Given the description of an element on the screen output the (x, y) to click on. 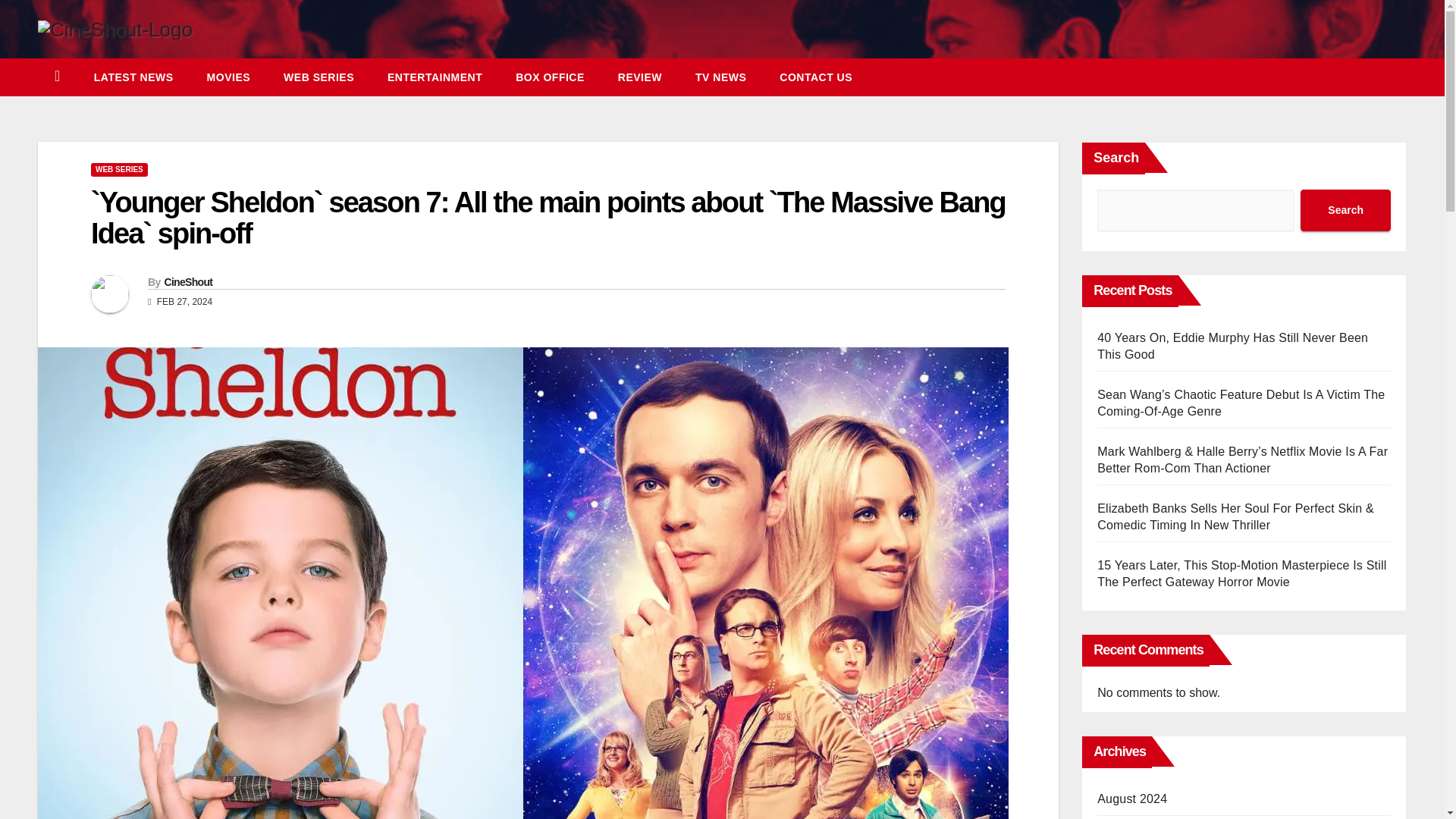
CineShout (187, 282)
Entertainment (435, 77)
BOX OFFICE (550, 77)
Web Series (318, 77)
CONTACT US (815, 77)
WEB SERIES (119, 169)
LATEST NEWS (133, 77)
MOVIES (228, 77)
August 2024 (1132, 798)
